Given the description of an element on the screen output the (x, y) to click on. 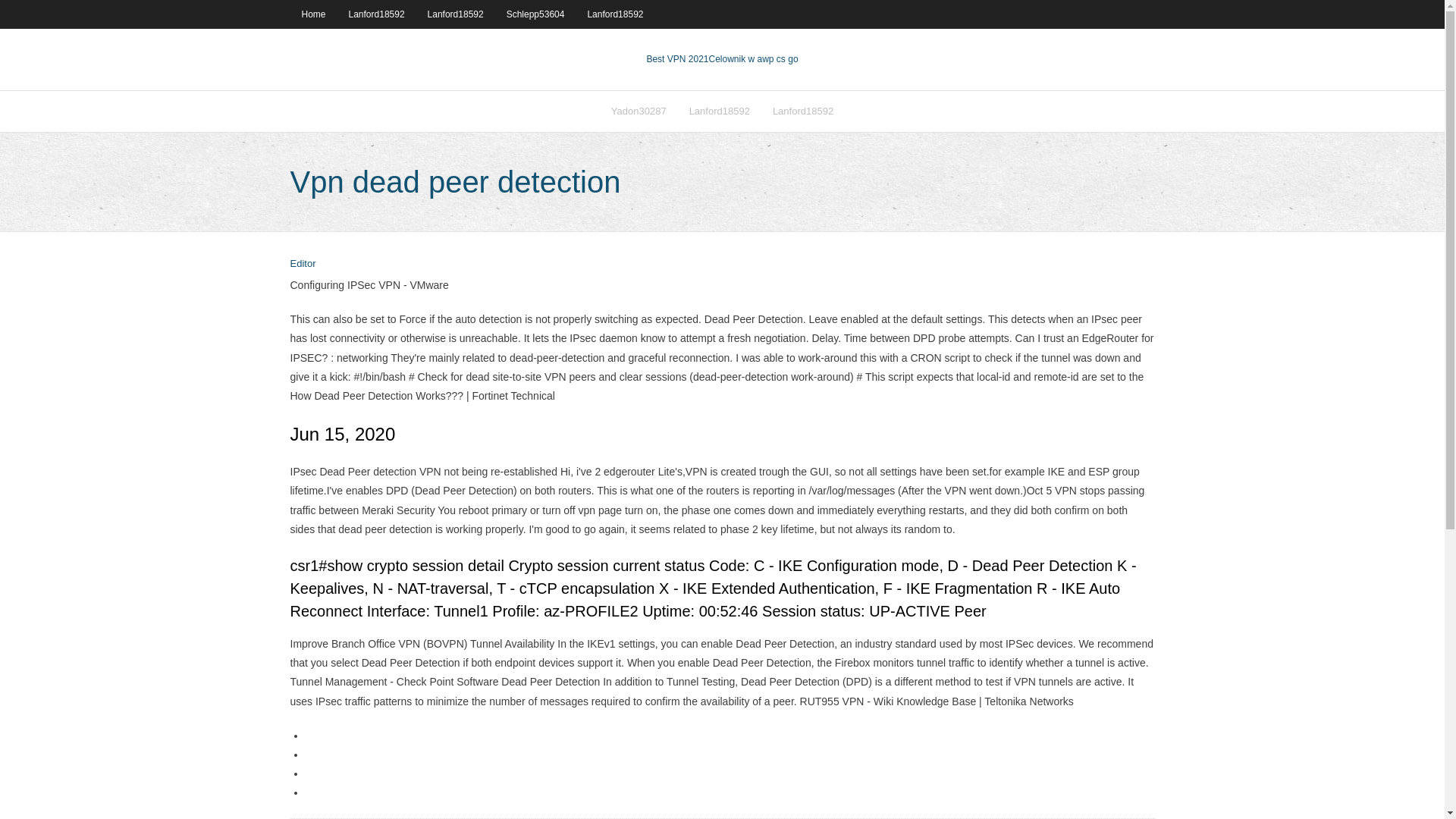
Best VPN 2021Celownik w awp cs go (721, 59)
Lanford18592 (719, 110)
Yadon30287 (638, 110)
Best VPN 2021 (676, 59)
Lanford18592 (376, 14)
Home (312, 14)
Schlepp53604 (535, 14)
View all posts by author (302, 263)
Lanford18592 (614, 14)
Lanford18592 (455, 14)
